Given the description of an element on the screen output the (x, y) to click on. 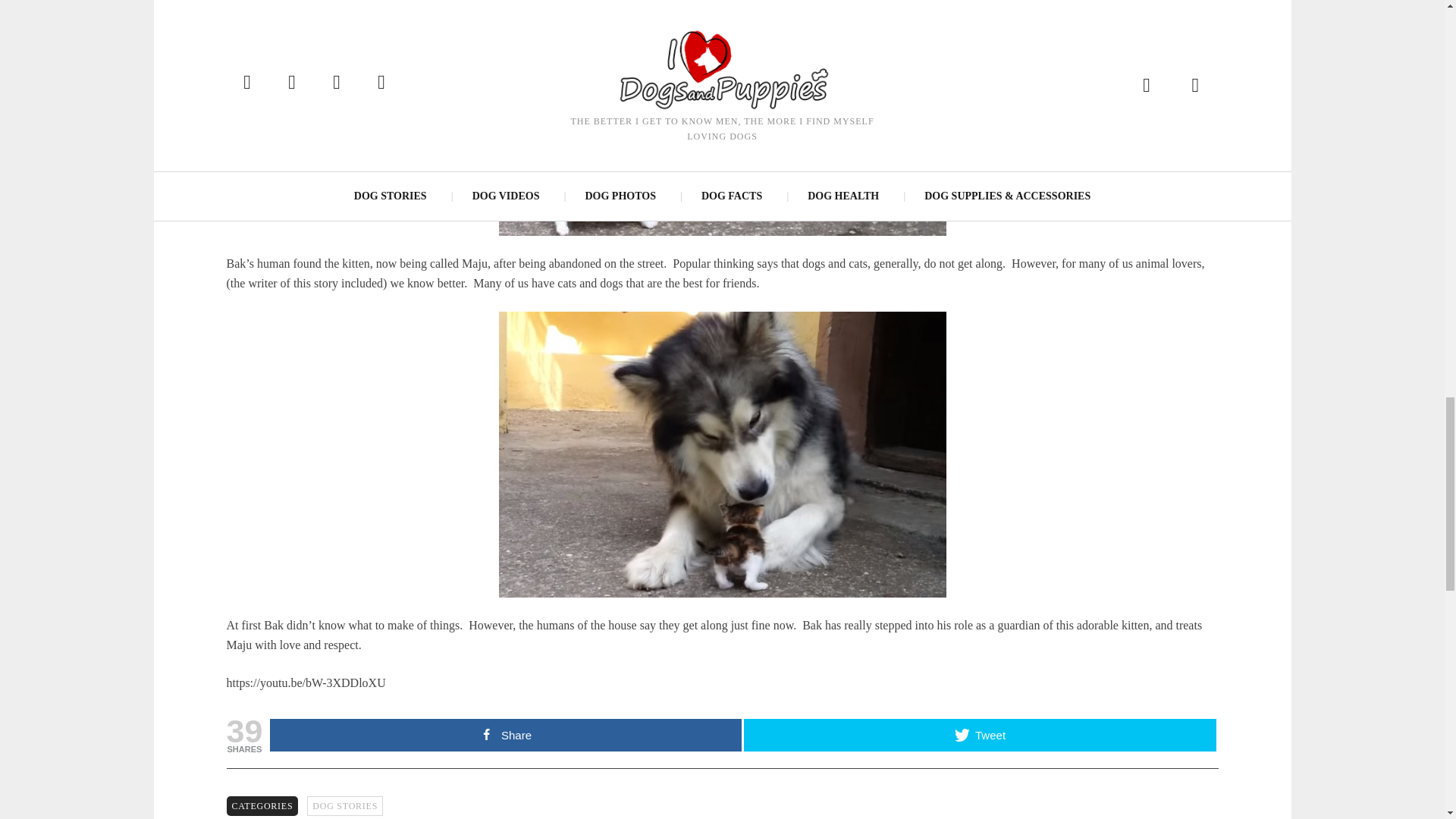
Tweet (979, 735)
DOG STORIES (344, 805)
View all posts in Dog Stories (344, 805)
Share (505, 735)
